Given the description of an element on the screen output the (x, y) to click on. 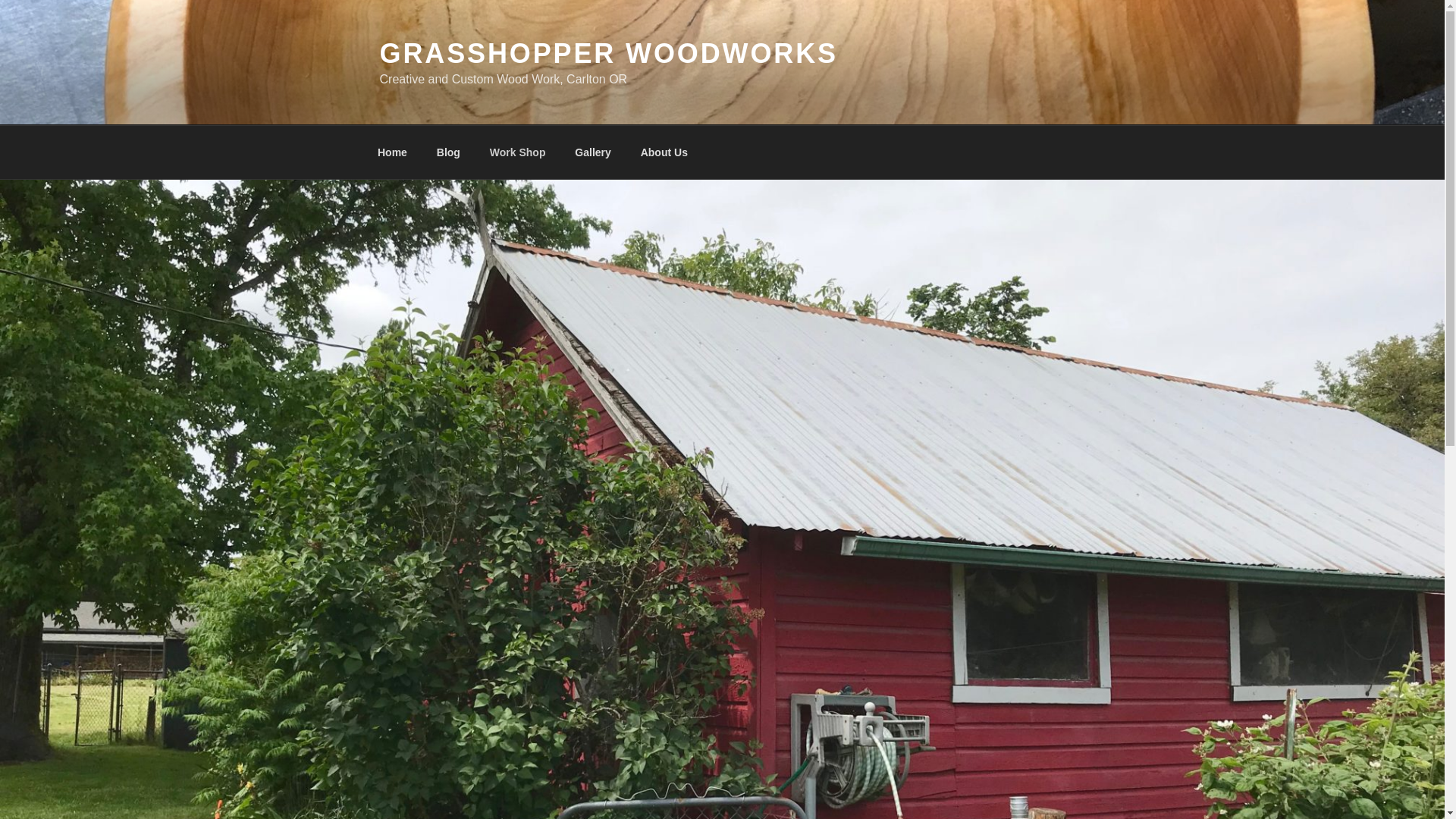
Gallery (593, 151)
Home (392, 151)
Work Shop (517, 151)
GRASSHOPPER WOODWORKS (608, 52)
Blog (448, 151)
About Us (663, 151)
